Given the description of an element on the screen output the (x, y) to click on. 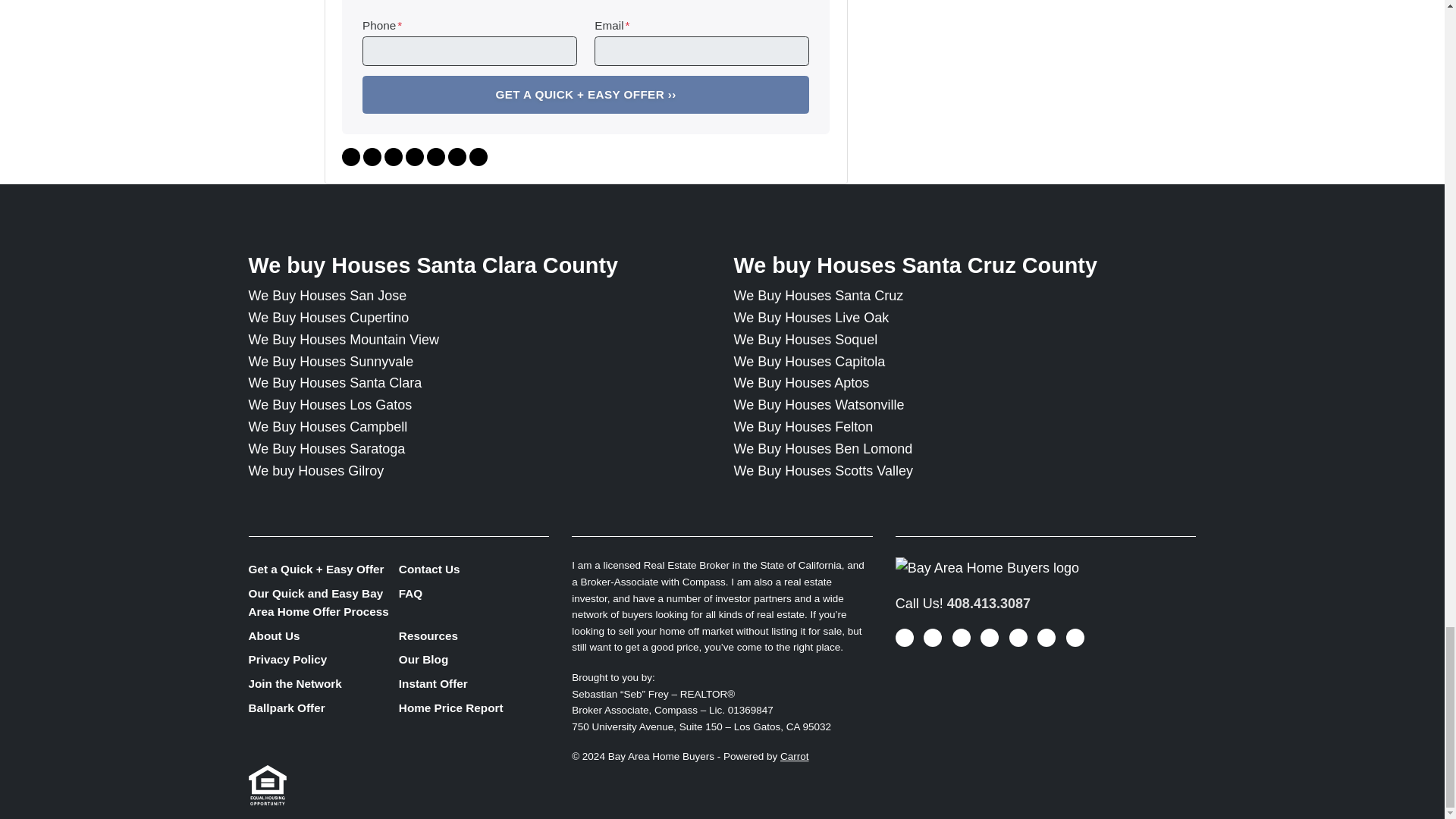
YouTube (371, 157)
Facebook (350, 157)
Instagram (414, 157)
Zillow (435, 157)
LinkedIn (393, 157)
